Given the description of an element on the screen output the (x, y) to click on. 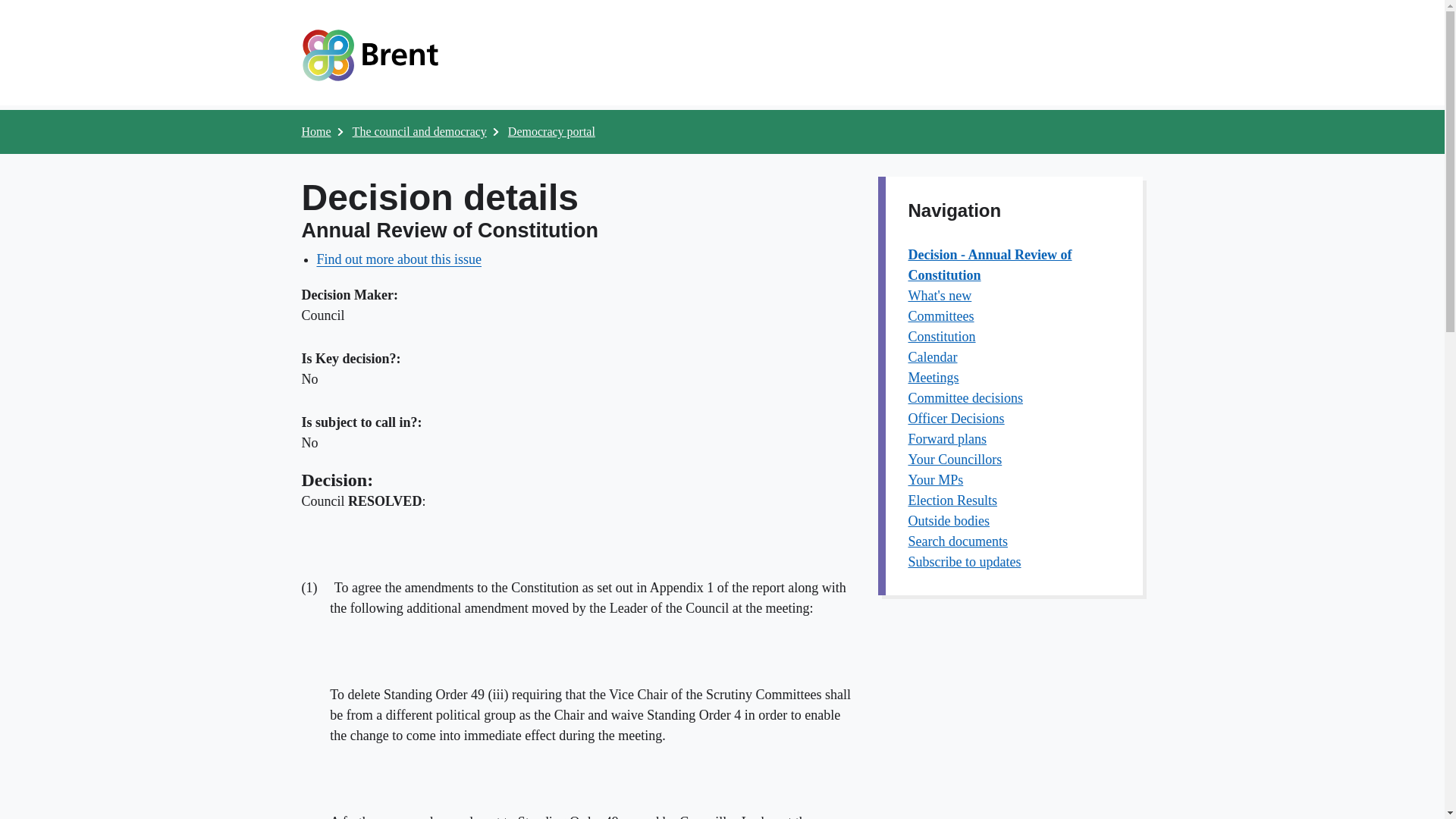
Logo (369, 54)
Forward plans (947, 438)
Calendar (933, 356)
Election Results (952, 500)
Outside bodies (949, 520)
What's new (940, 295)
Meetings (933, 377)
The council and democracy (419, 131)
Democracy portal (551, 131)
Committee decisions (965, 397)
Decision - Annual Review of Constitution (989, 264)
Subscribe to updates (965, 561)
Search documents (957, 540)
Home (316, 131)
Officer Decisions (956, 418)
